Given the description of an element on the screen output the (x, y) to click on. 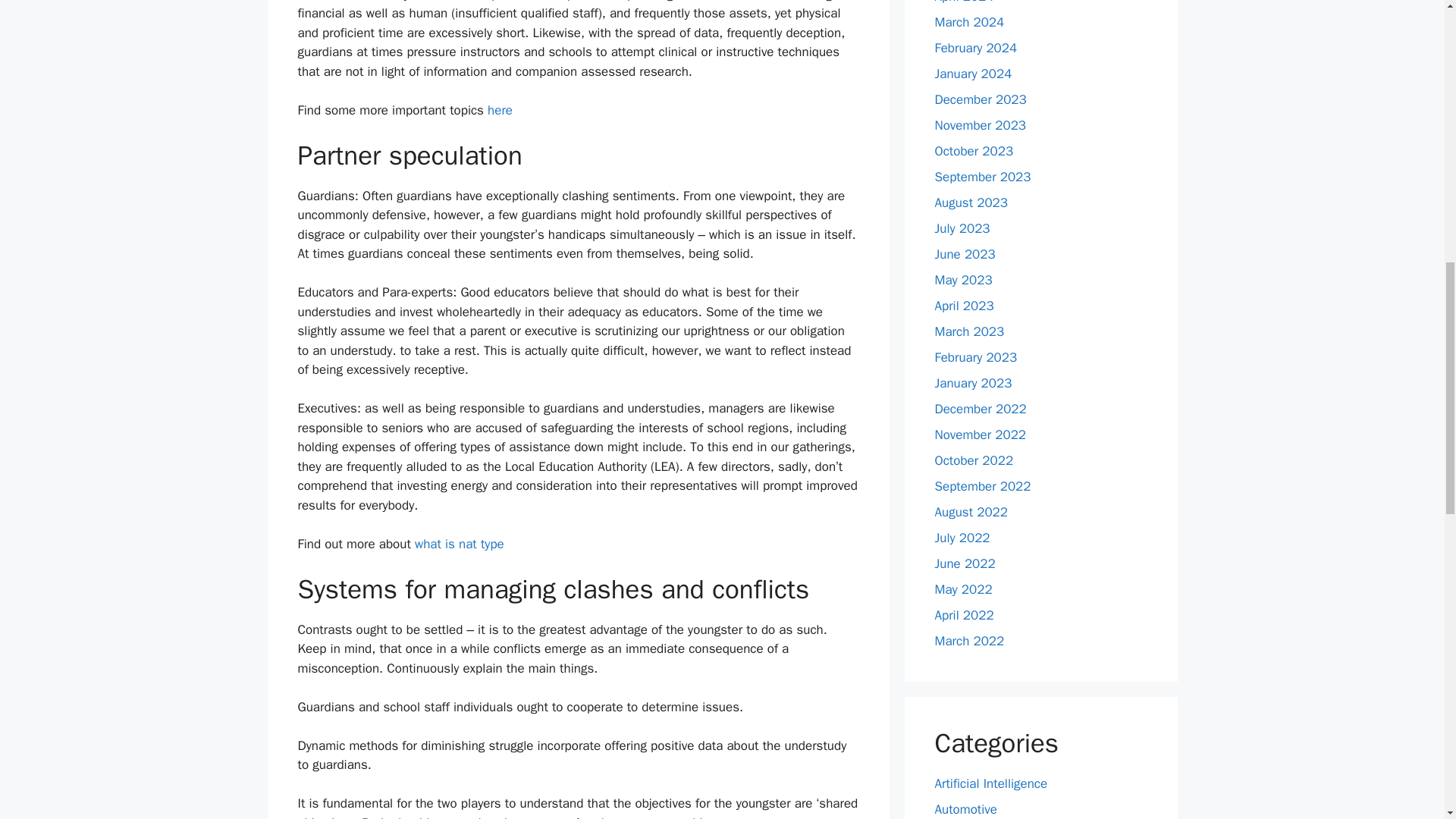
April 2024 (963, 2)
September 2023 (982, 176)
August 2023 (970, 202)
what is nat type (458, 544)
October 2023 (973, 150)
here (499, 109)
January 2024 (972, 73)
November 2023 (980, 125)
December 2023 (980, 99)
March 2024 (969, 22)
